Given the description of an element on the screen output the (x, y) to click on. 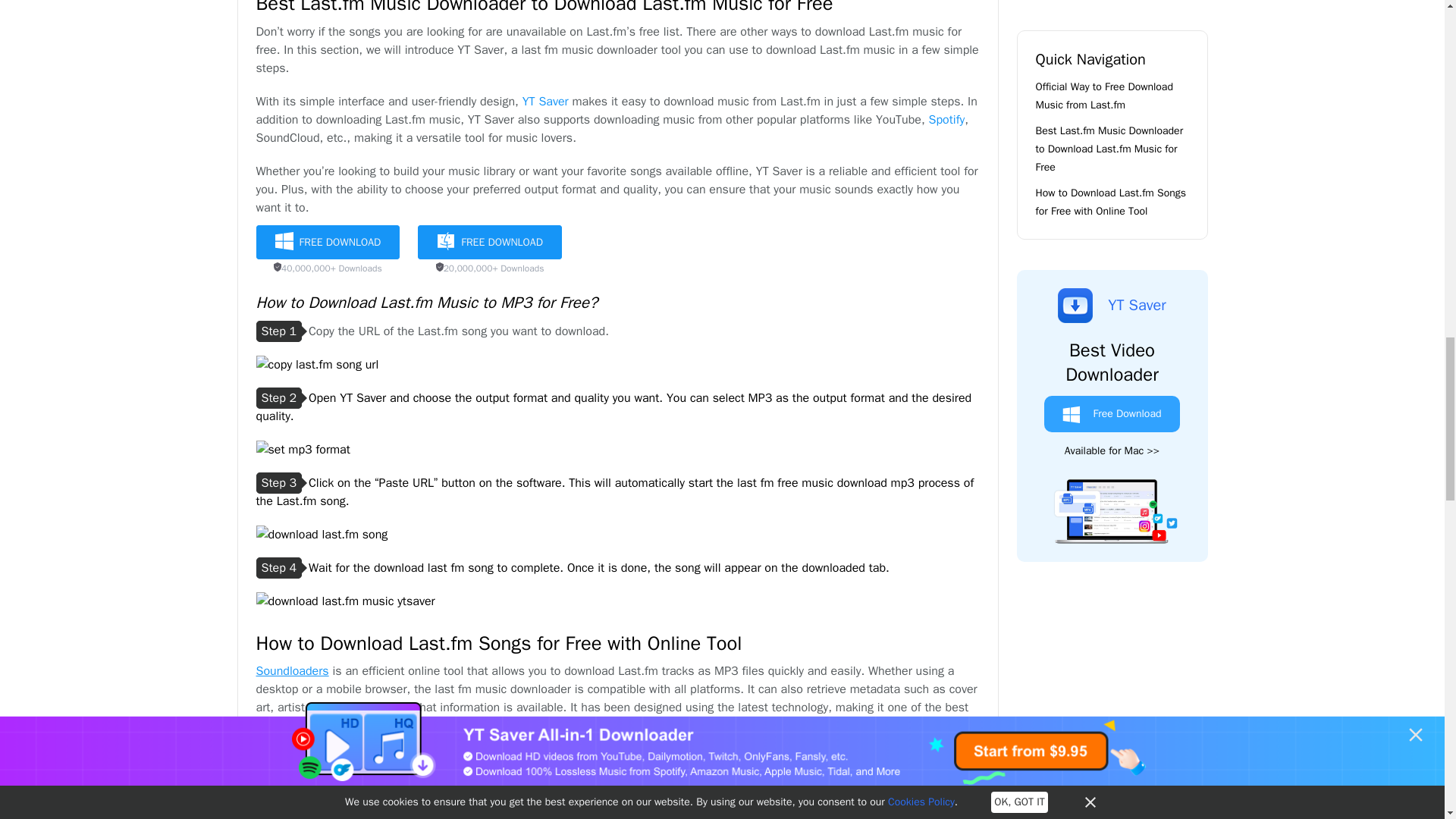
FREE DOWNLOAD (328, 242)
FREE DOWNLOAD (489, 242)
YT Saver (545, 101)
Spotify (946, 119)
Soundloaders (292, 670)
